Given the description of an element on the screen output the (x, y) to click on. 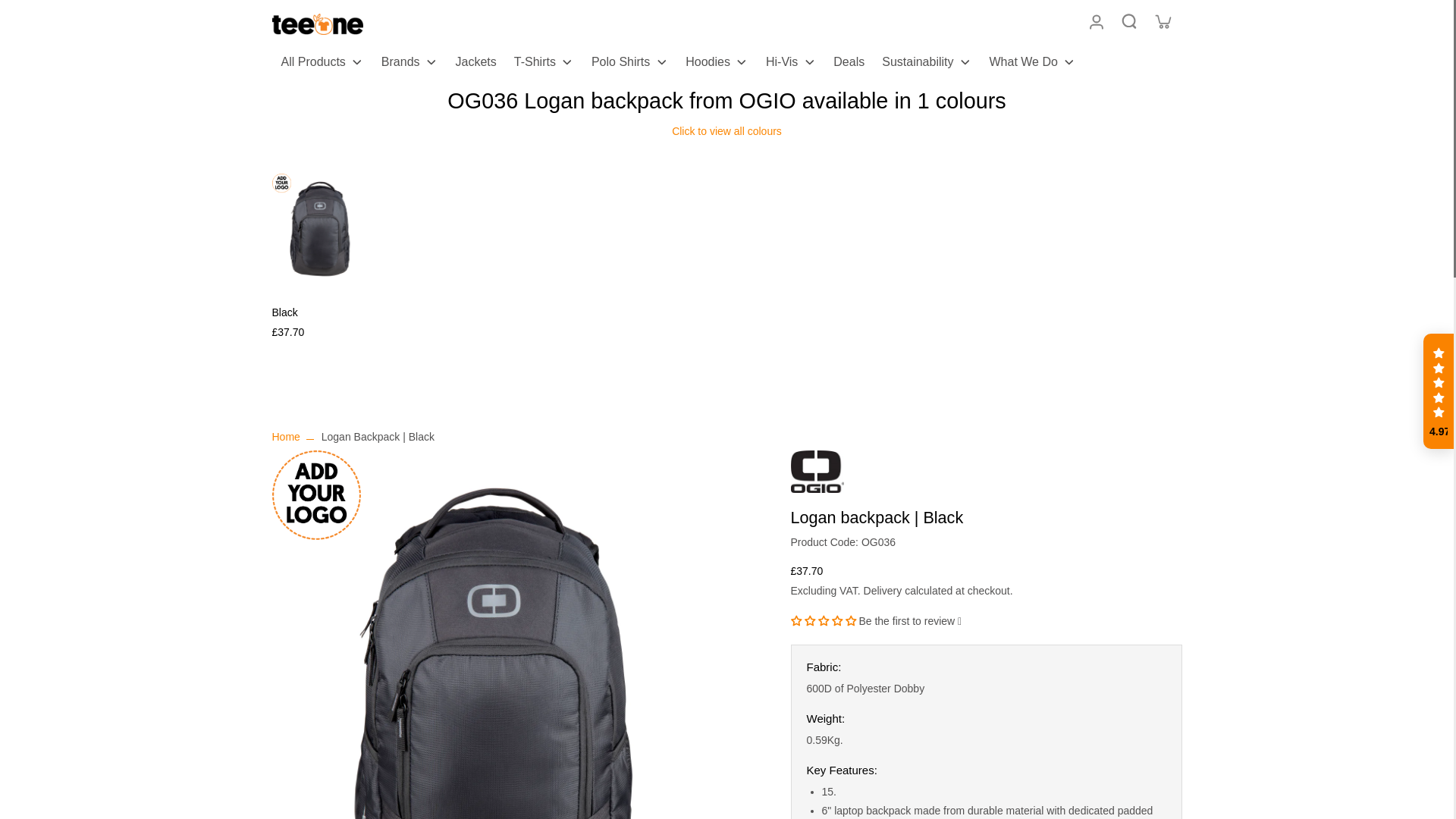
Sustainability (925, 64)
Deals (848, 64)
T-Shirts (543, 64)
Hi-Vis (790, 64)
Hoodies (717, 64)
Polo Shirts (629, 64)
Skip to content (19, 10)
Brands (409, 64)
Jackets (475, 64)
What We Do (1031, 64)
Home (284, 436)
All Products (320, 64)
